Given the description of an element on the screen output the (x, y) to click on. 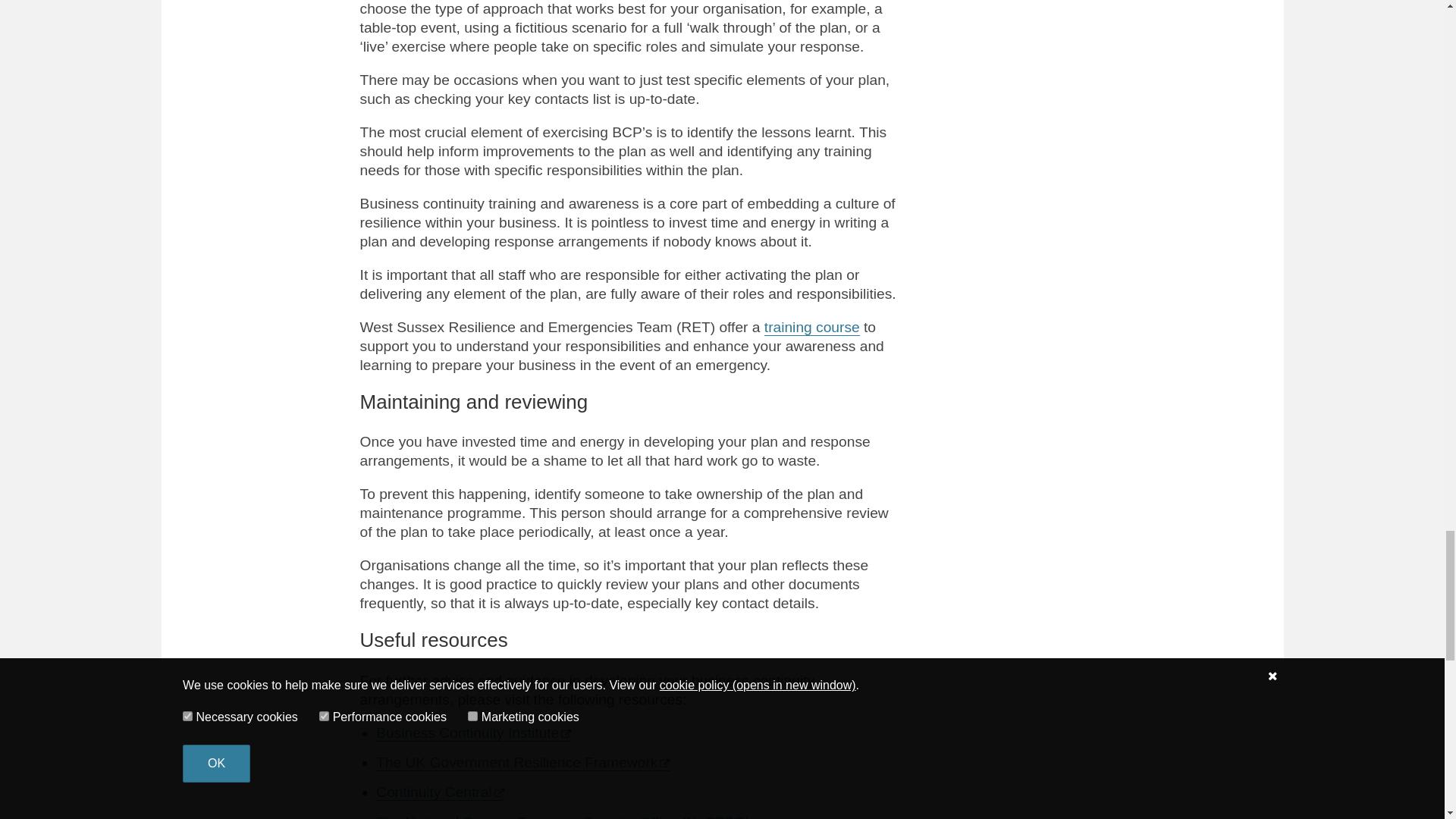
Continuity Central (439, 791)
Business Continuity Institute (472, 733)
training course (812, 327)
The UK Government Resilience Framework (522, 762)
